Given the description of an element on the screen output the (x, y) to click on. 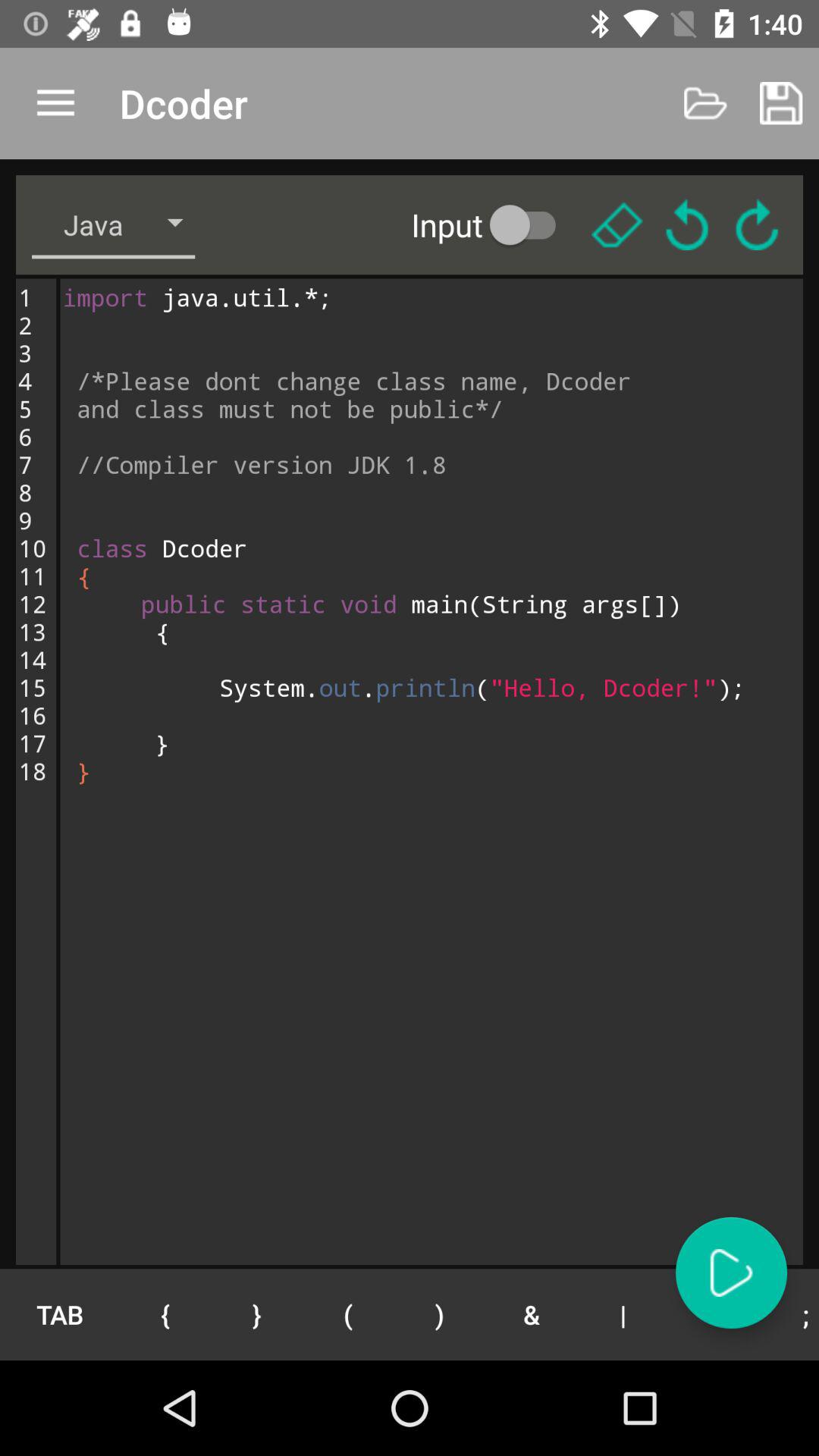
tap the item next to | icon (714, 1314)
